Given the description of an element on the screen output the (x, y) to click on. 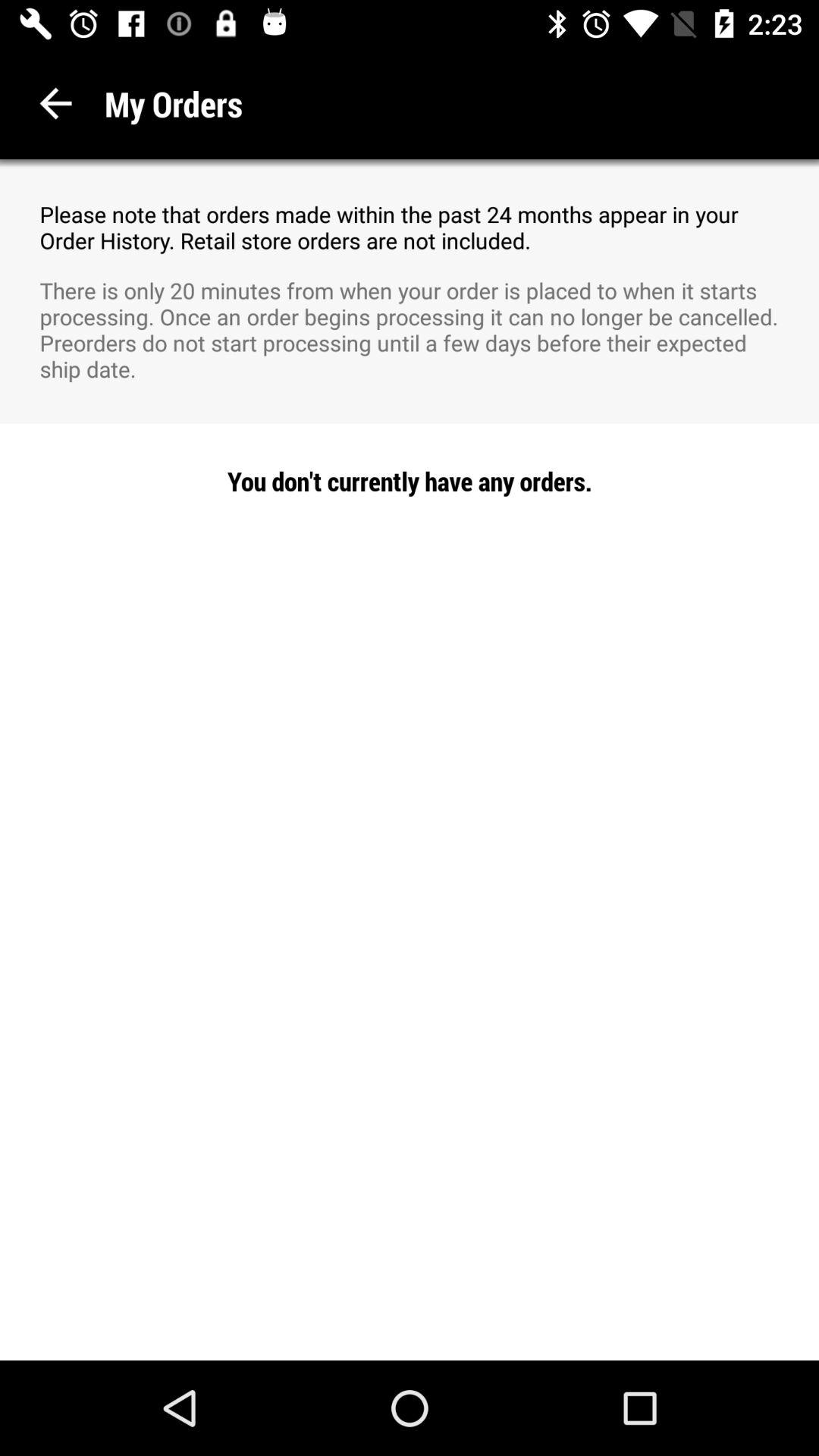
go back (55, 103)
